Given the description of an element on the screen output the (x, y) to click on. 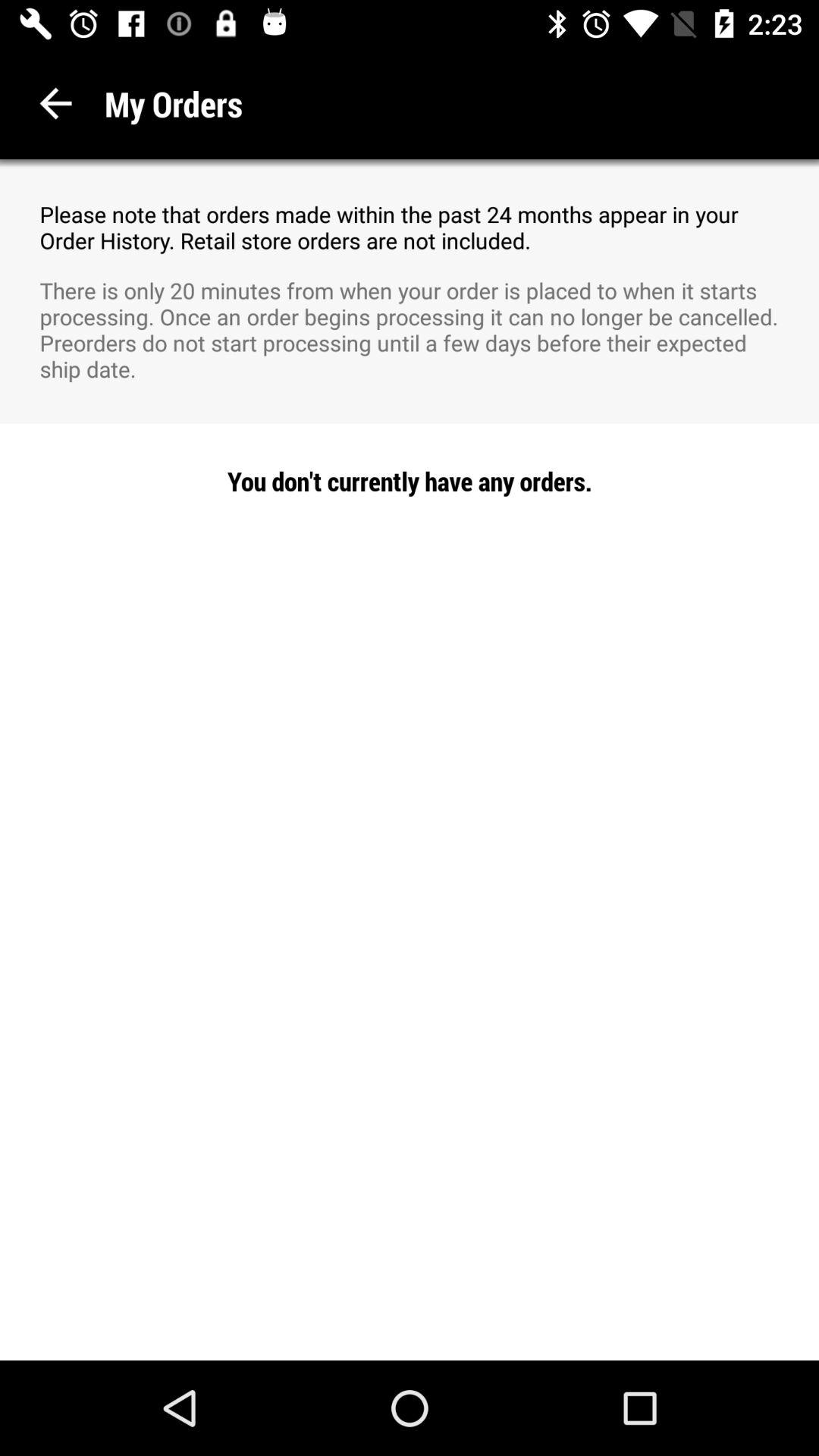
go back (55, 103)
